Given the description of an element on the screen output the (x, y) to click on. 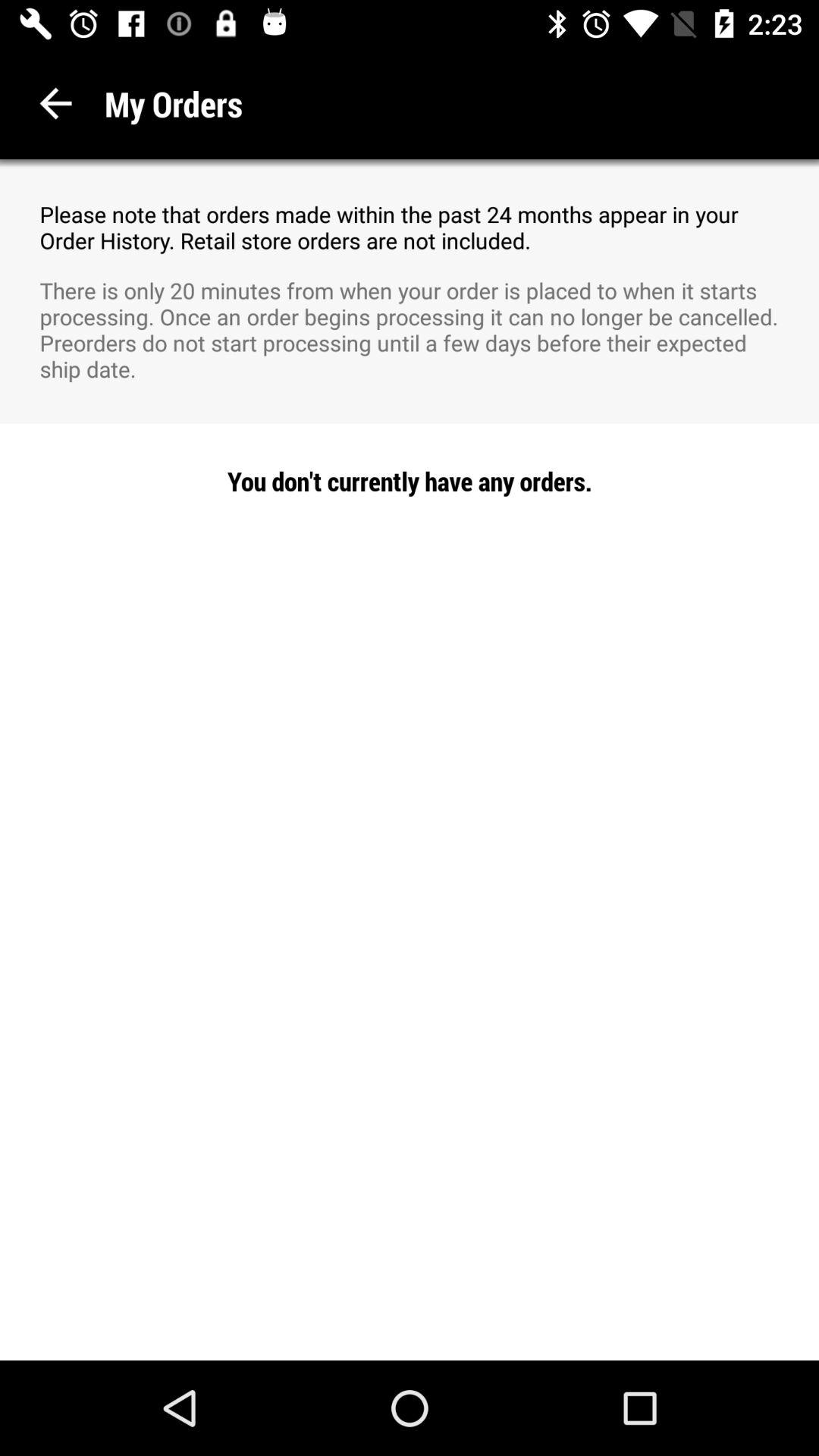
go back (55, 103)
